Given the description of an element on the screen output the (x, y) to click on. 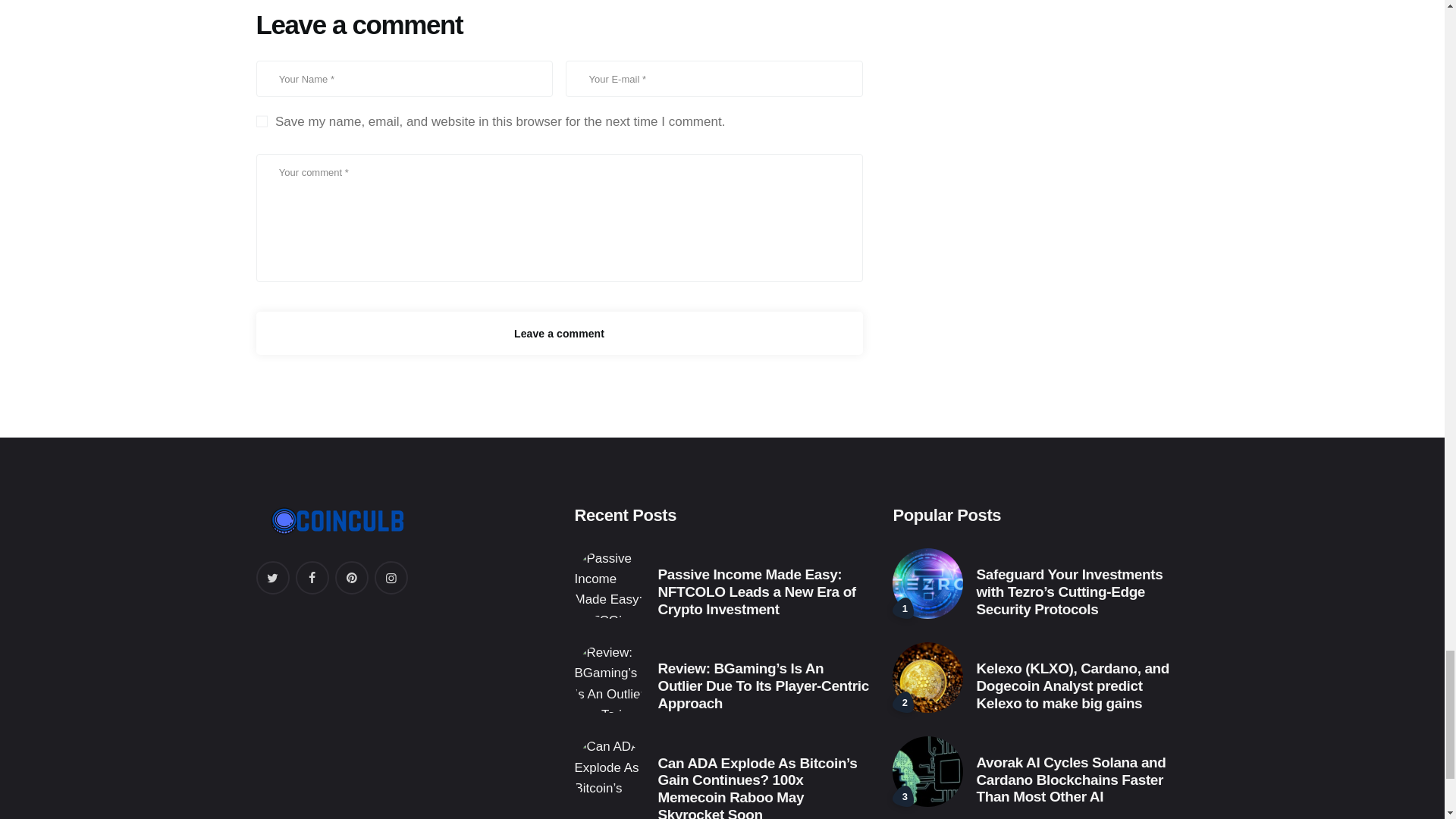
Leave a comment (559, 333)
